Given the description of an element on the screen output the (x, y) to click on. 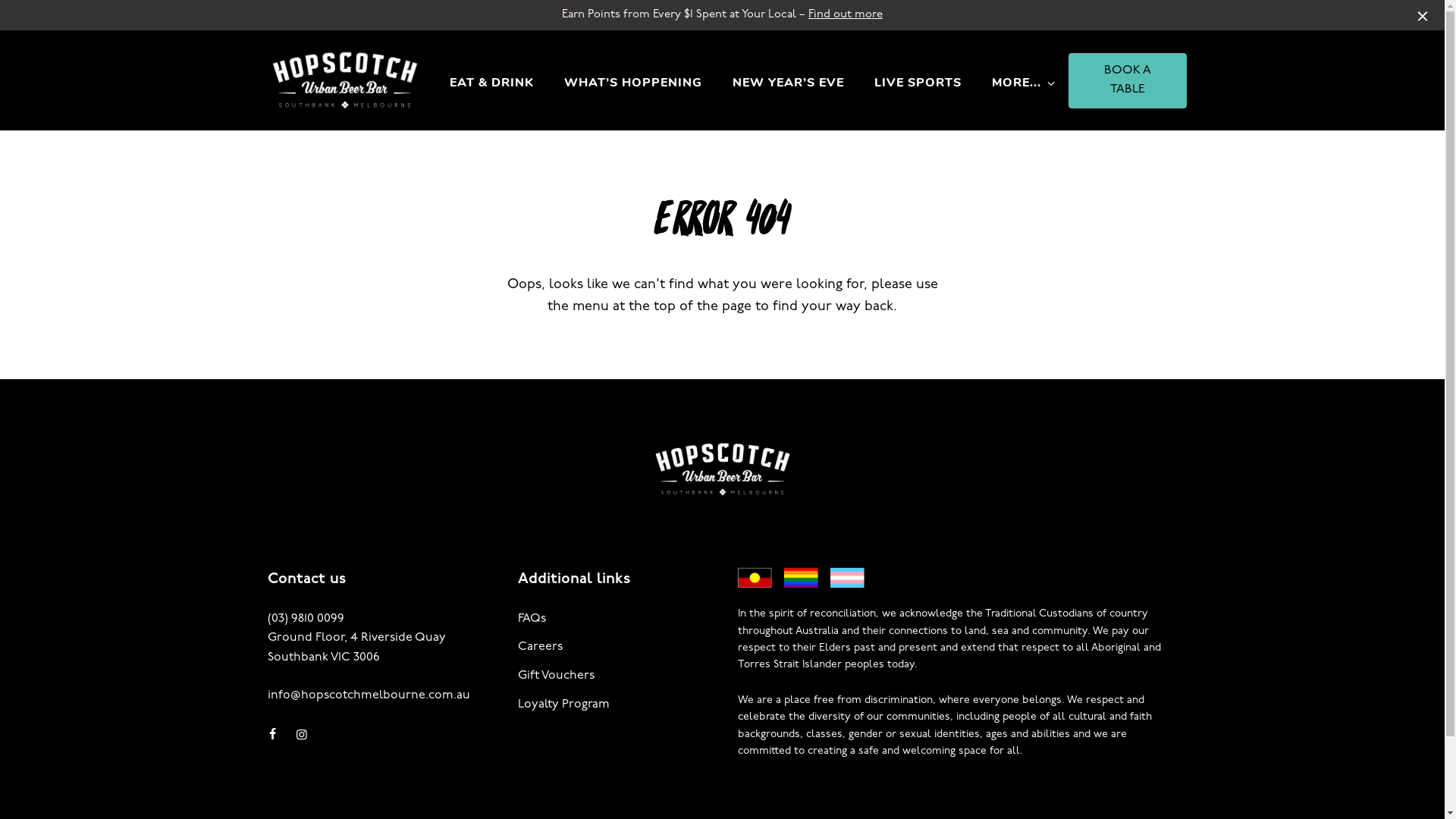
Loyalty Program Element type: text (562, 704)
Gift Vouchers Element type: text (555, 675)
(03) 9810 0099 Element type: text (304, 619)
Careers Element type: text (539, 646)
BOOK A TABLE Element type: text (1126, 80)
LIVE SPORTS Element type: text (916, 83)
Ground Floor, 4 Riverside Quay
Southbank VIC 3006 Element type: text (355, 647)
EAT & DRINK Element type: text (490, 83)
FAQs Element type: text (531, 618)
info@hopscotchmelbourne.com.au Element type: text (367, 696)
MORE... Element type: text (1016, 83)
Find out more Element type: text (845, 14)
